Given the description of an element on the screen output the (x, y) to click on. 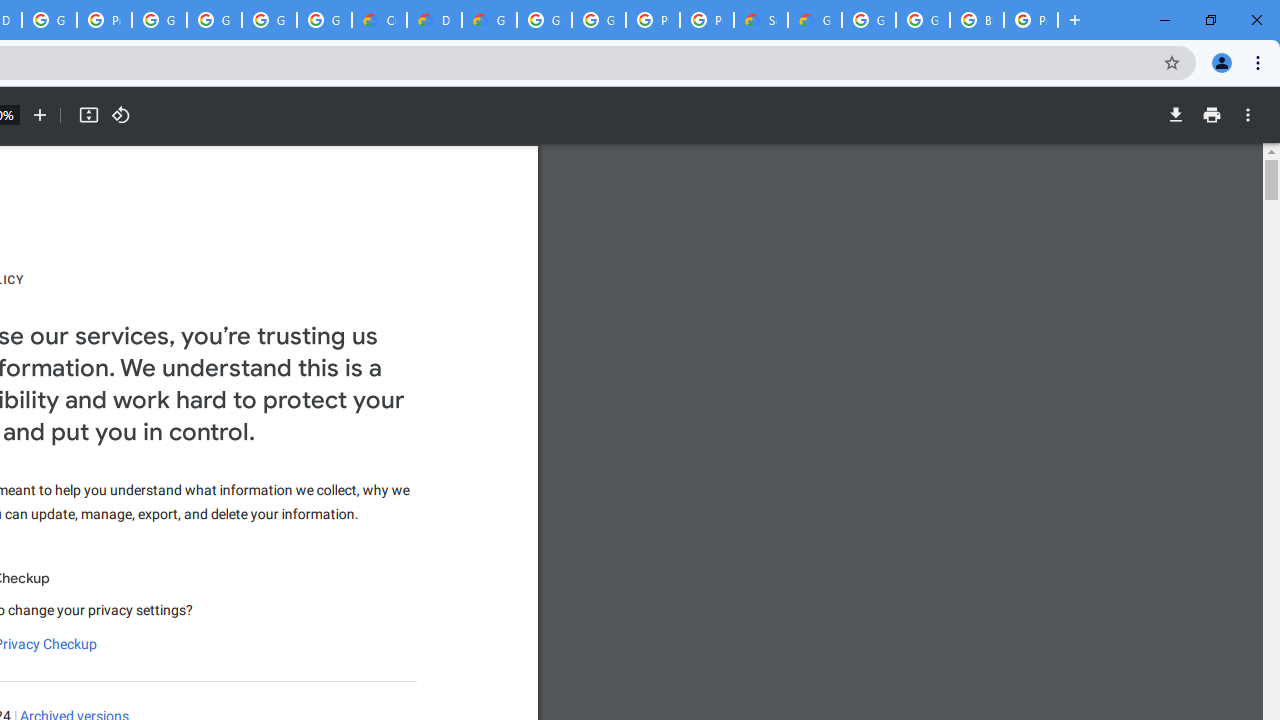
Google Cloud Platform (598, 20)
